Given the description of an element on the screen output the (x, y) to click on. 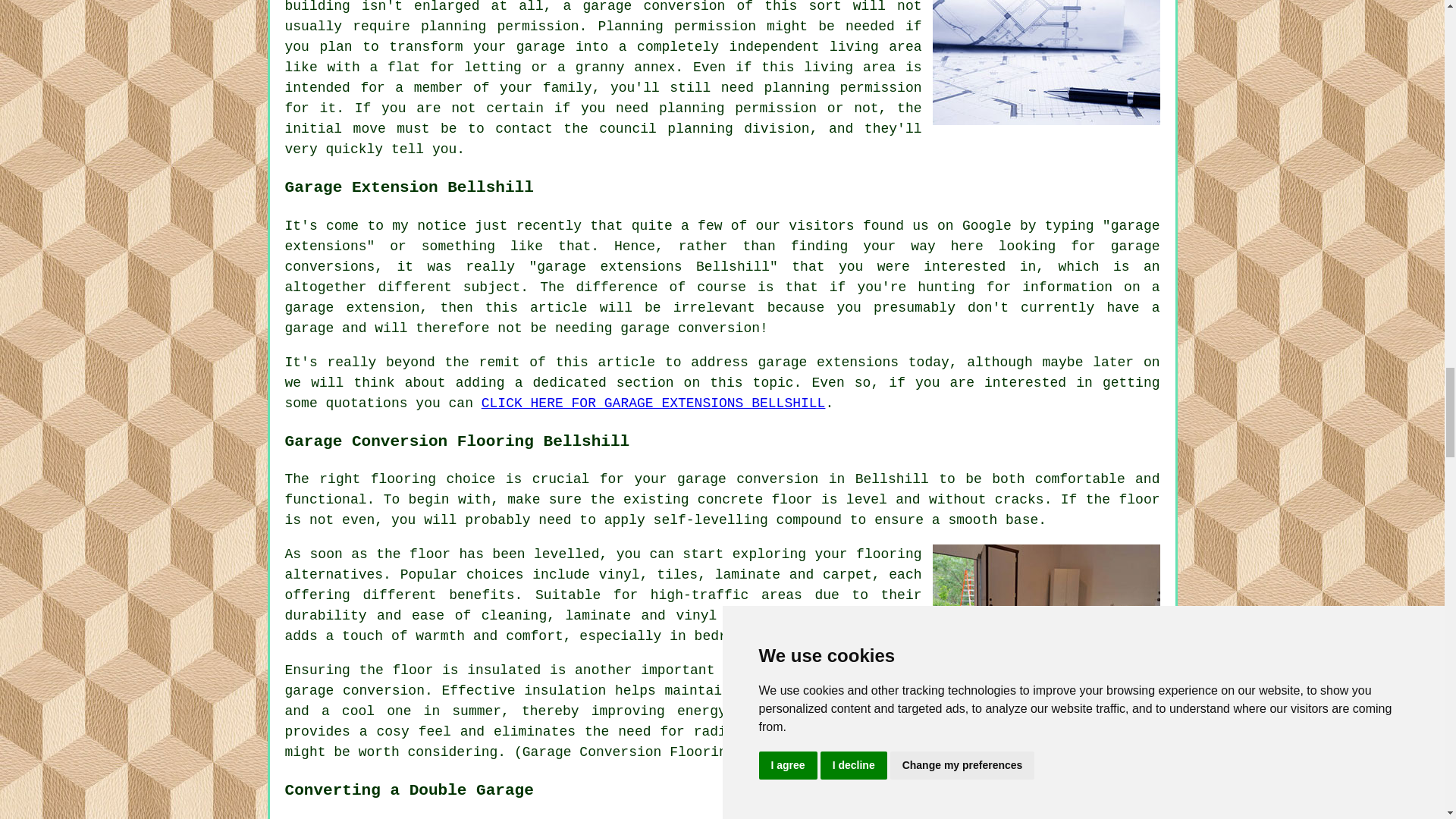
floor (429, 554)
garage conversion (747, 478)
Garage Conversion Flooring Bellshill (1046, 618)
conversion (383, 690)
